Given the description of an element on the screen output the (x, y) to click on. 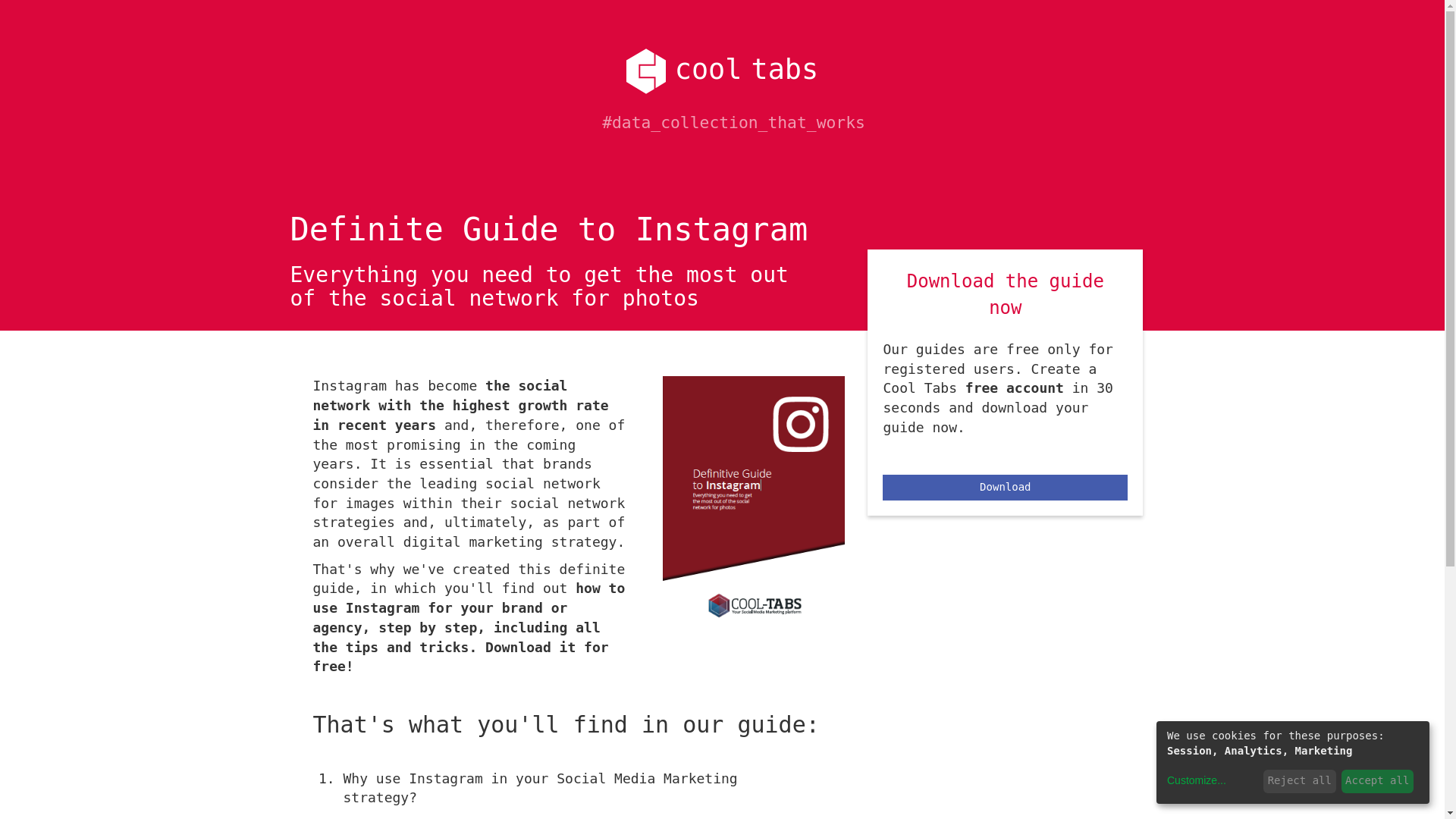
Accept all (1376, 781)
Download (1004, 487)
Customize... (1196, 780)
Reject all (1299, 781)
